Given the description of an element on the screen output the (x, y) to click on. 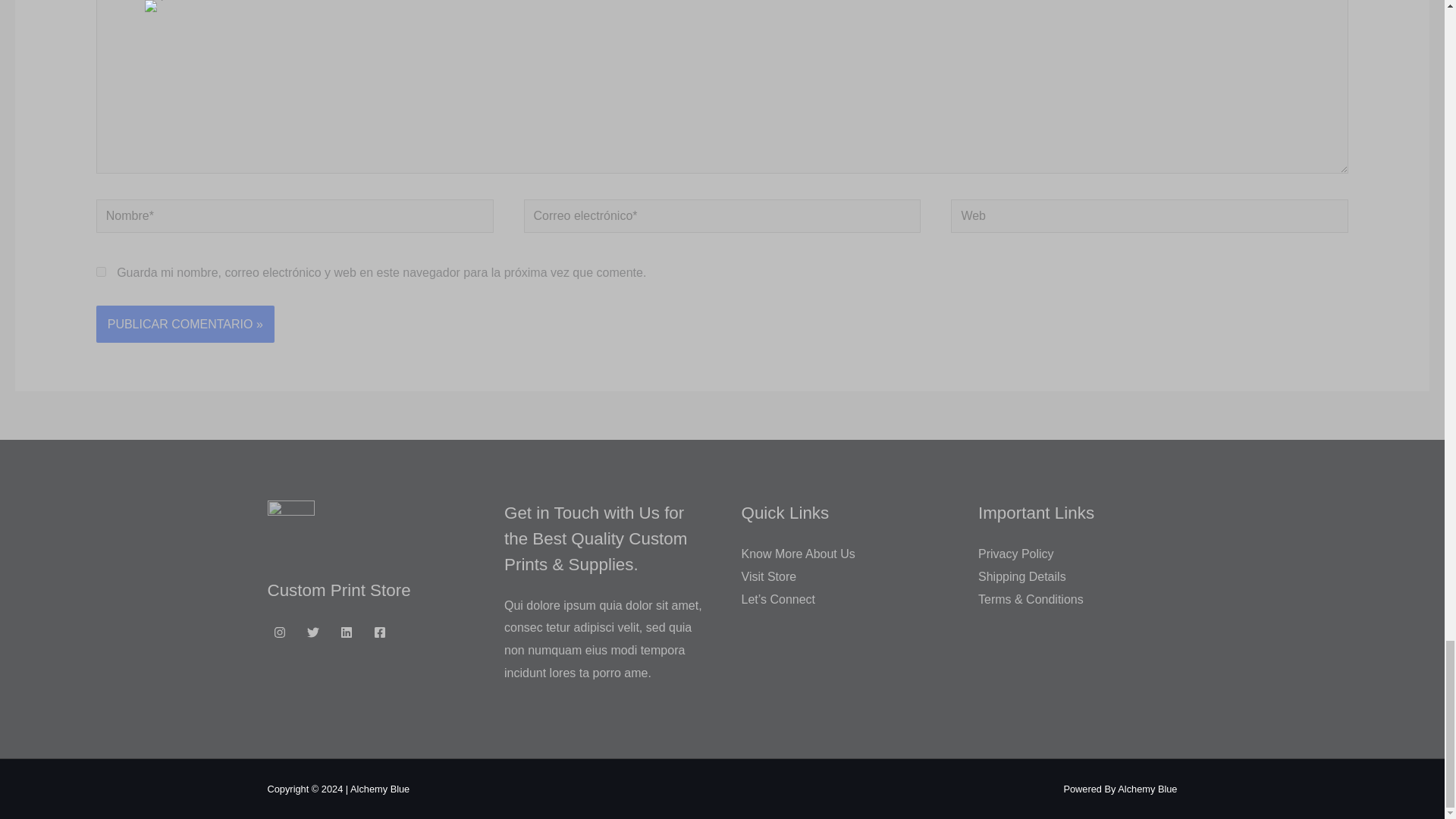
yes (101, 271)
Know More About Us (798, 553)
